Given the description of an element on the screen output the (x, y) to click on. 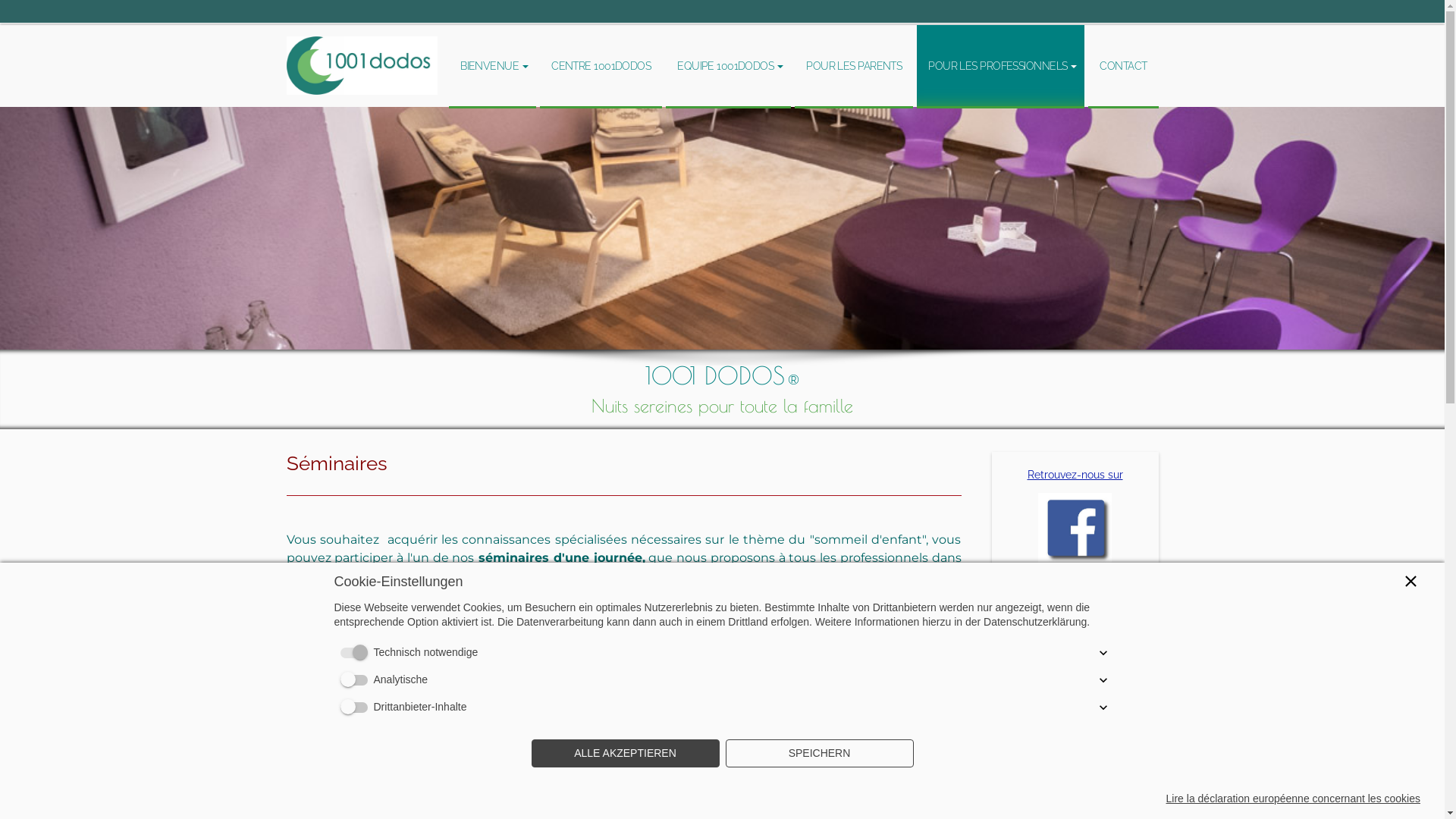
  Element type: text (362, 30)
POUR LES PROFESSIONNELS Element type: text (1000, 66)
www.1001nanna.it Element type: text (1074, 682)
ALLE AKZEPTIEREN Element type: text (624, 753)
EQUIPE 1001DODOS Element type: text (727, 66)
BIENVENUE Element type: text (492, 66)
CONTACT Element type: text (1122, 66)
www.1001kindernacht.ch Element type: text (1074, 618)
POUR LES PARENTS Element type: text (853, 66)
CENTRE 1001DODOS Element type: text (600, 66)
SPEICHERN Element type: text (818, 753)
Retrouvez-nous sur Element type: text (1074, 474)
